Given the description of an element on the screen output the (x, y) to click on. 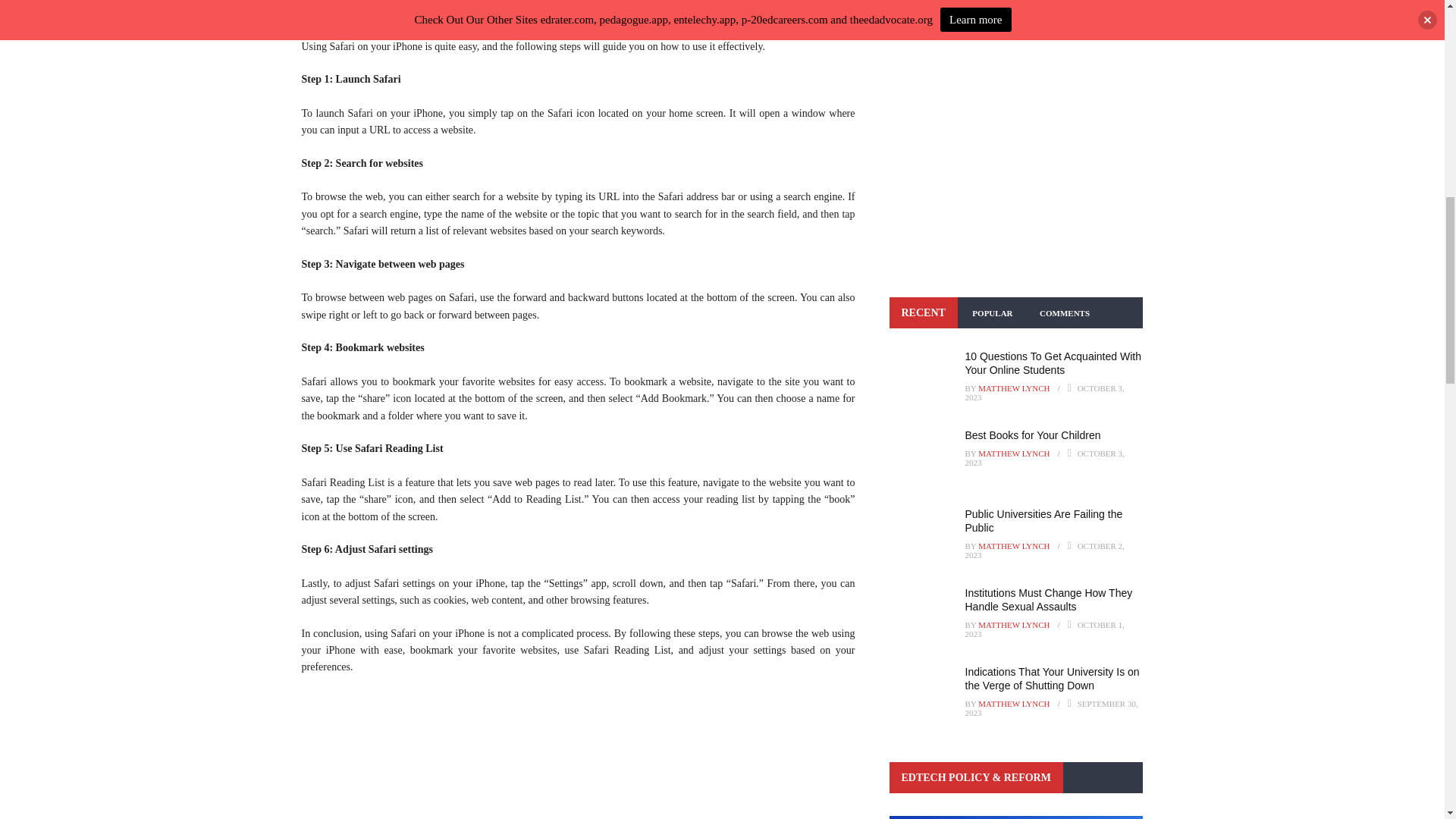
Twitter (344, 9)
Advertisement (578, 755)
Subscribe (925, 22)
Reddit (435, 9)
Facebook (316, 9)
Linkedin (375, 9)
Advertisement (1015, 166)
Pinterest (404, 9)
Mix (463, 9)
